Given the description of an element on the screen output the (x, y) to click on. 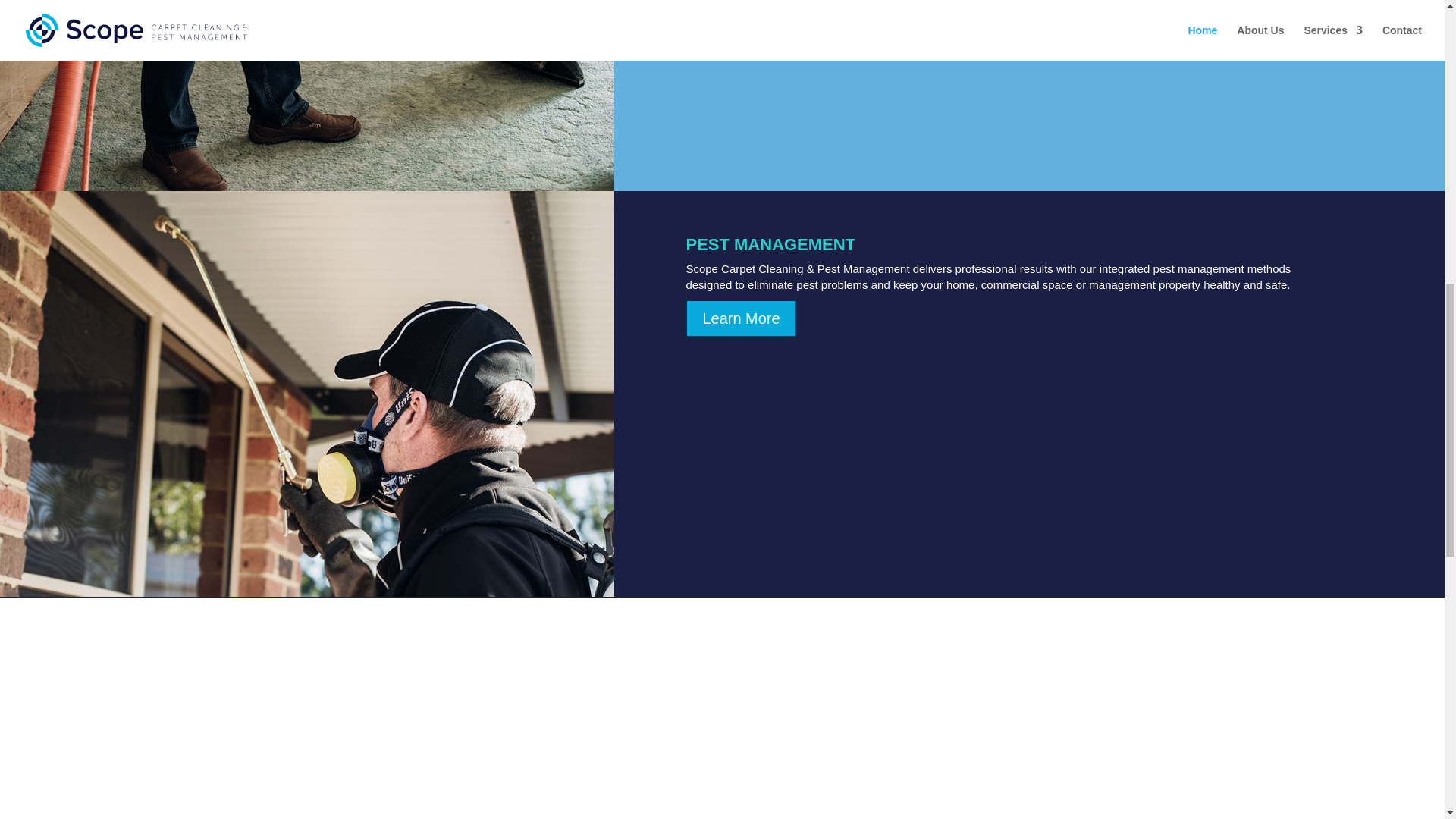
Learn More (740, 318)
